Given the description of an element on the screen output the (x, y) to click on. 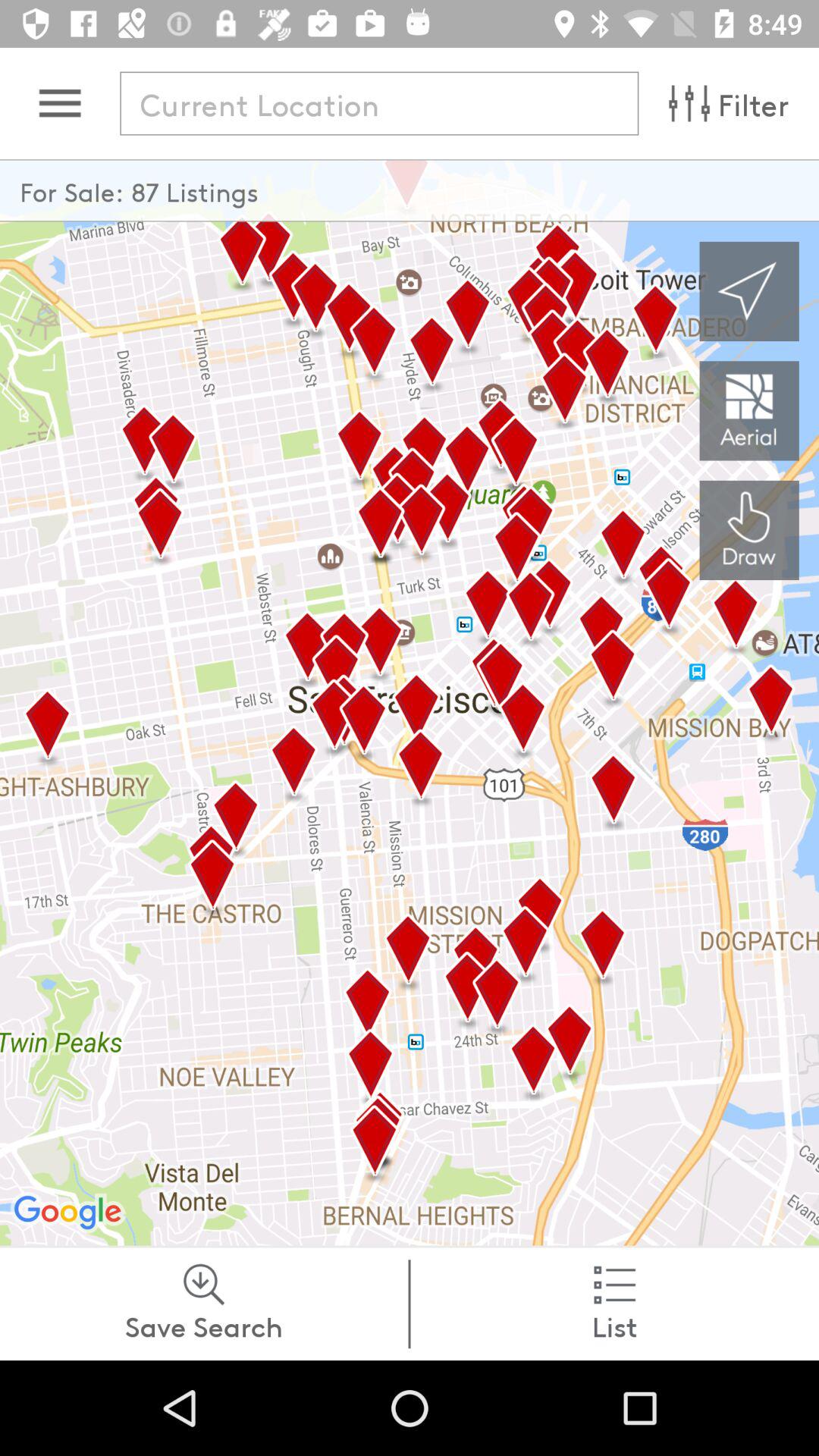
turn off list at the bottom right corner (614, 1303)
